Given the description of an element on the screen output the (x, y) to click on. 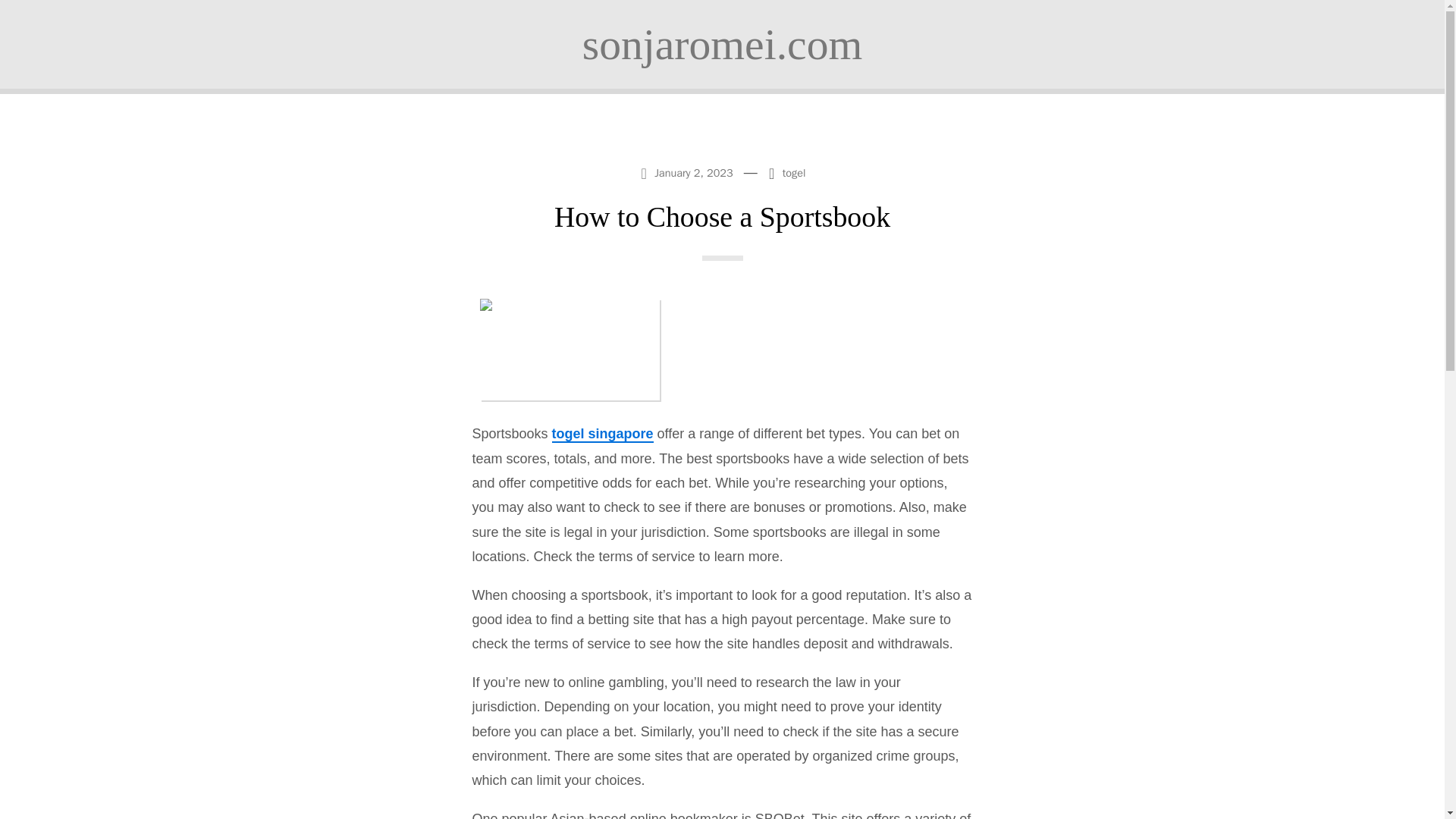
January 2, 2023 (687, 171)
togel (794, 172)
How to Choose a Sportsbook (721, 216)
togel singapore (602, 434)
sonjaromei.com (721, 43)
